Given the description of an element on the screen output the (x, y) to click on. 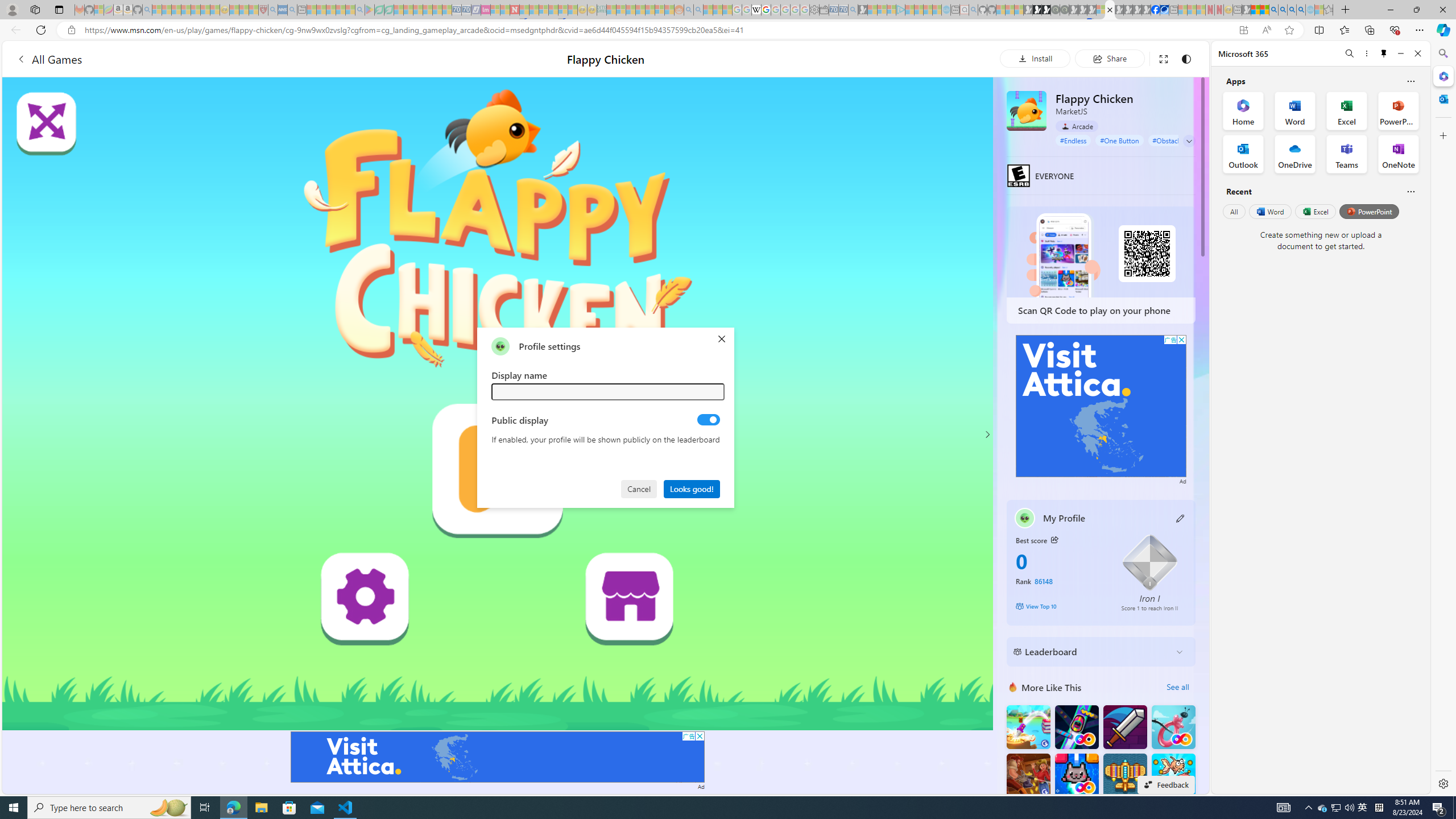
Utah sues federal government - Search - Sleeping (697, 9)
Settings and more (Alt+F) (1419, 29)
Class: expand-arrow neutral (1188, 141)
Close (1417, 53)
Settings - Sleeping (814, 9)
Fish Merge FRVR (1173, 775)
All (1233, 210)
Favorites - Sleeping (1328, 9)
Favorites (1344, 29)
14 Common Myths Debunked By Scientific Facts - Sleeping (533, 9)
New Report Confirms 2023 Was Record Hot | Watch - Sleeping (195, 9)
